Given the description of an element on the screen output the (x, y) to click on. 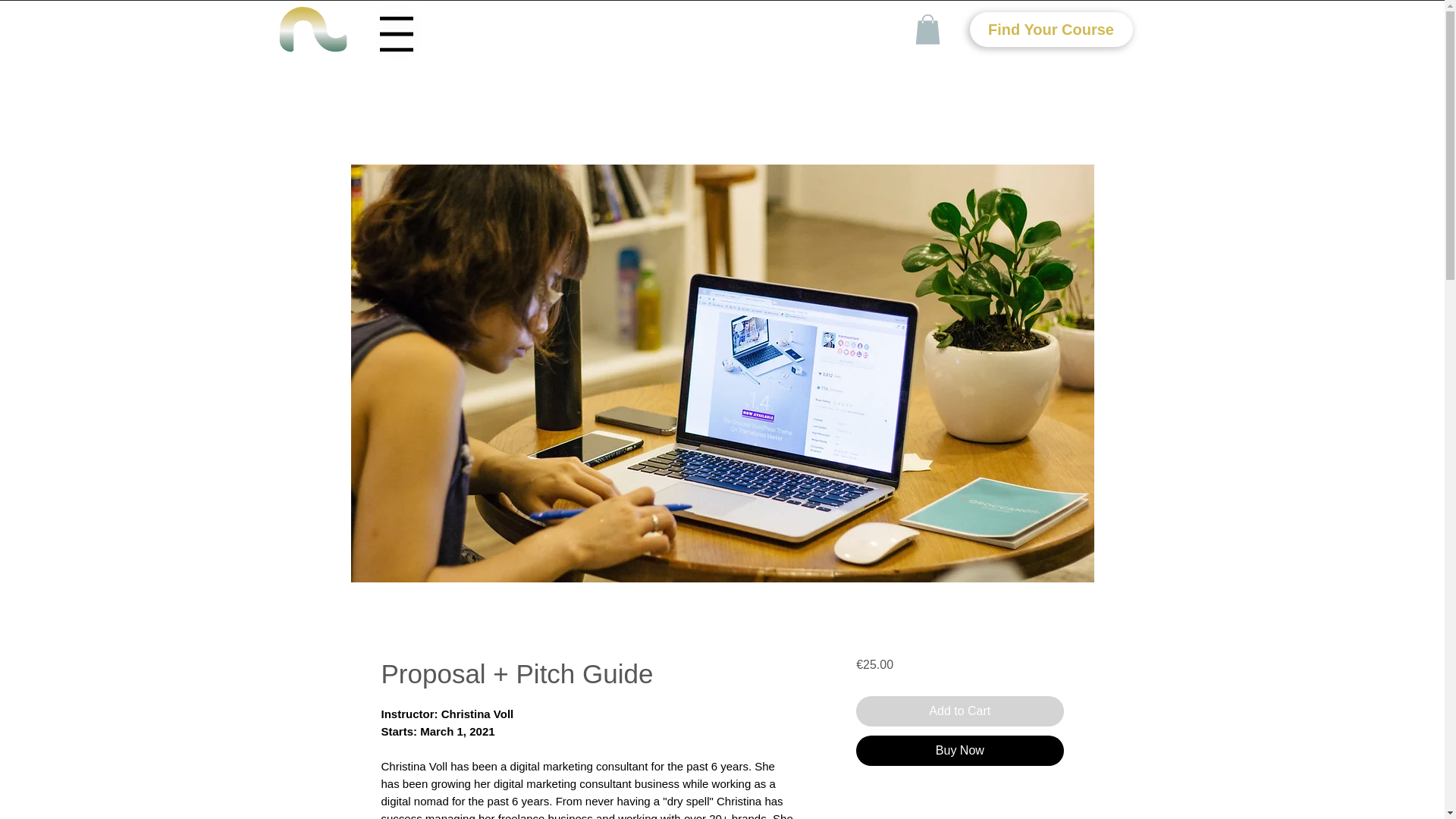
Add to Cart (959, 711)
Find Your Course (1050, 29)
Buy Now (959, 750)
